Given the description of an element on the screen output the (x, y) to click on. 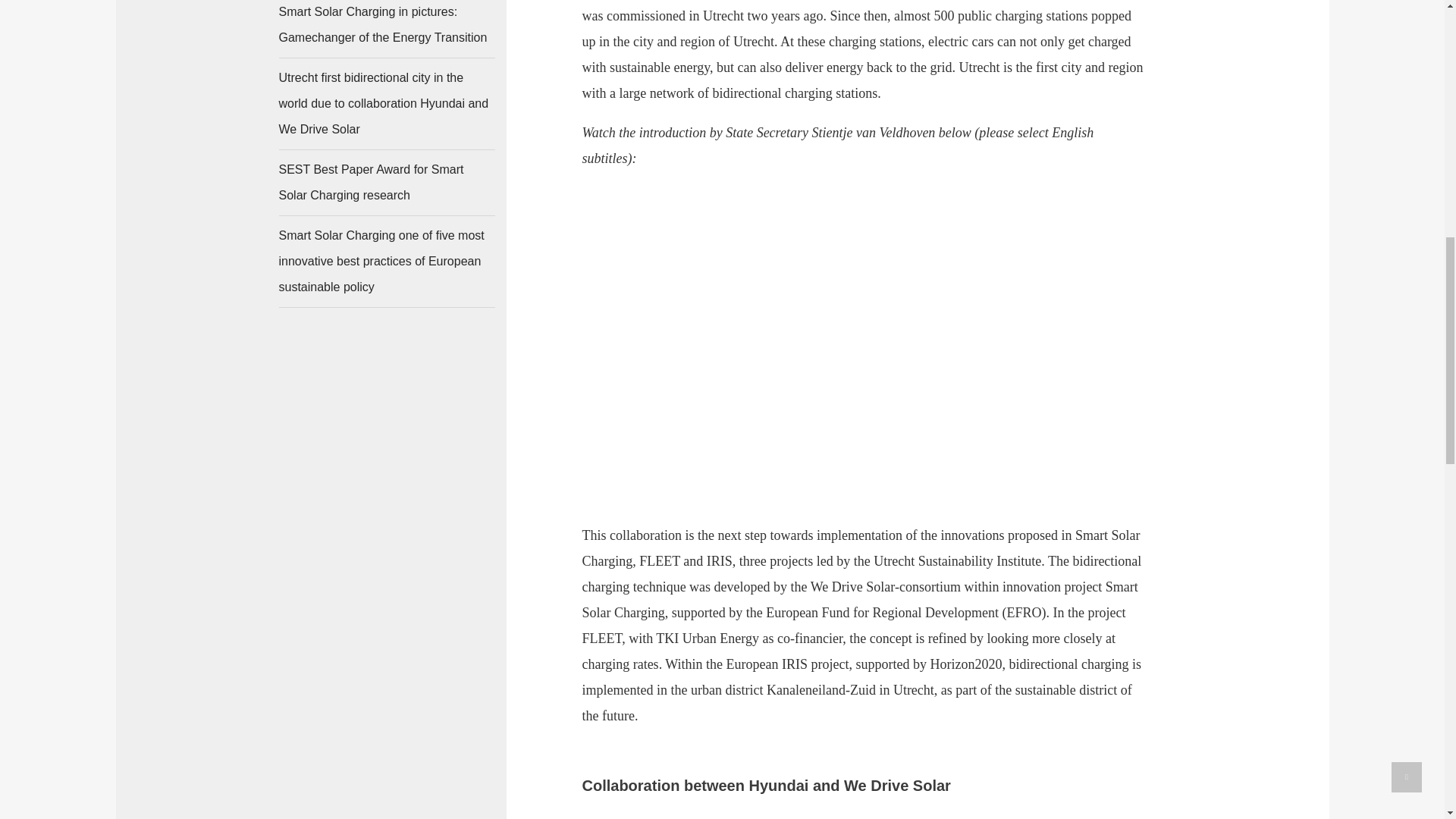
SEST Best Paper Award for Smart Solar Charging research (387, 182)
